Given the description of an element on the screen output the (x, y) to click on. 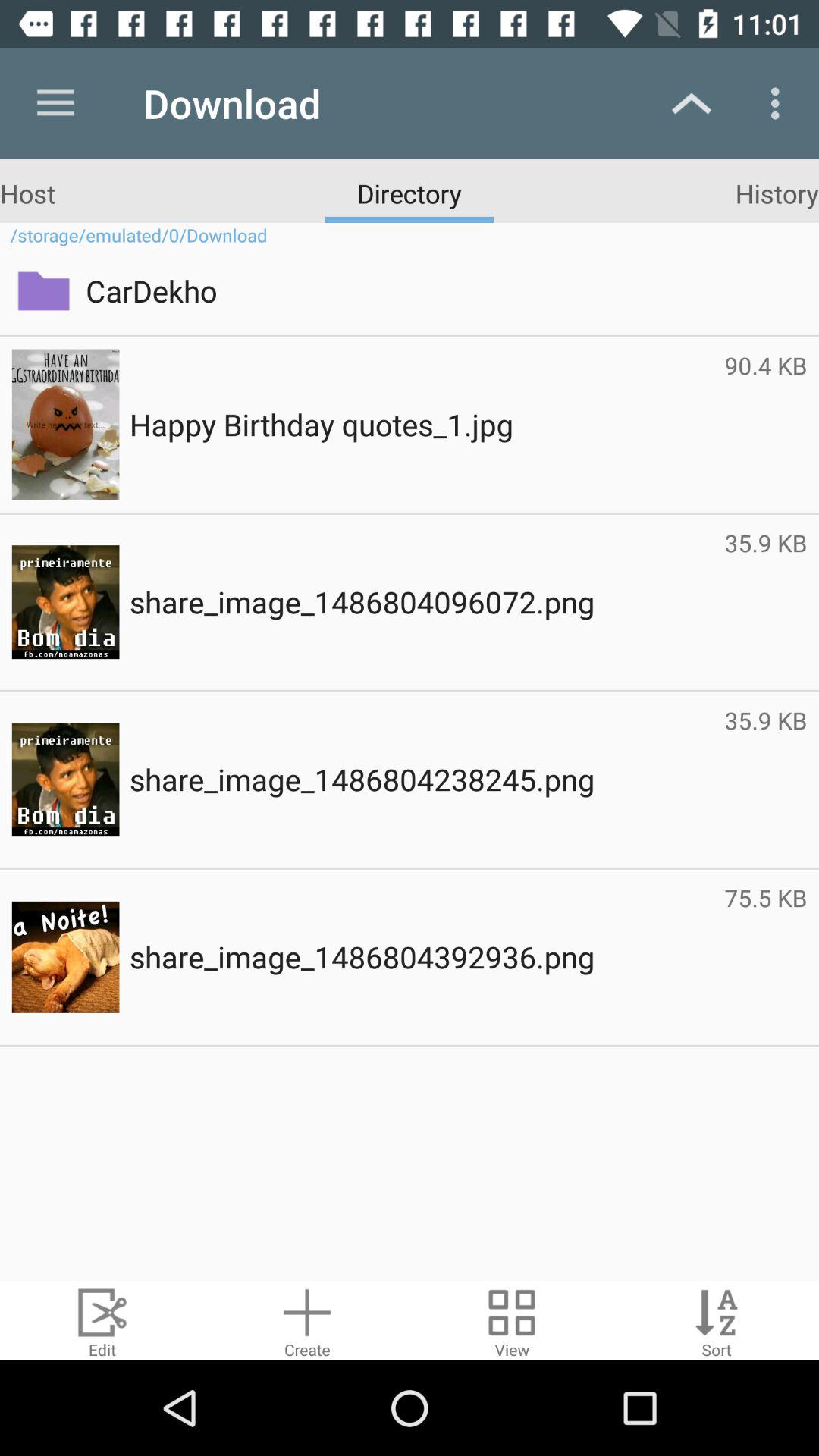
view in other format (511, 1320)
